Given the description of an element on the screen output the (x, y) to click on. 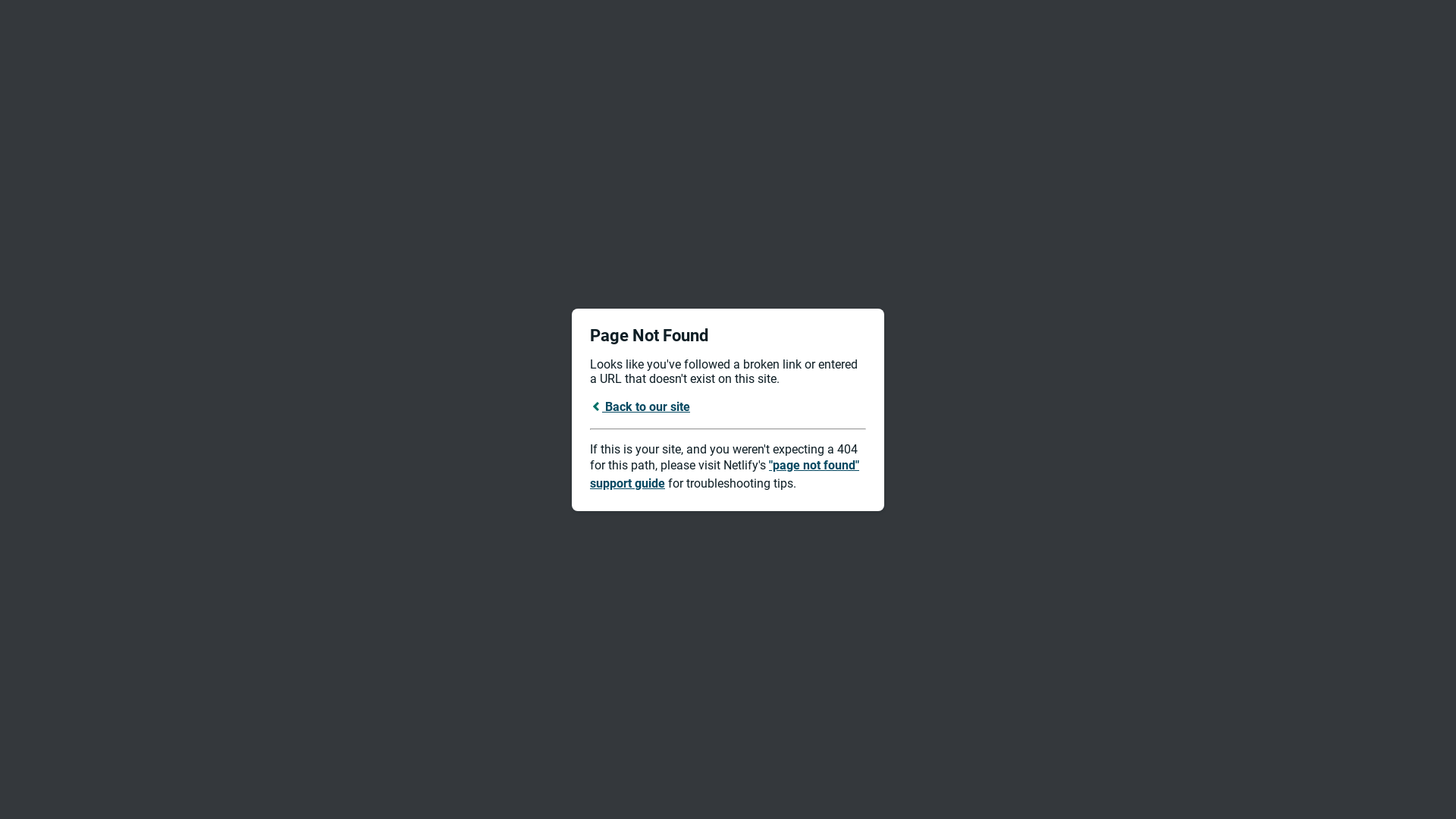
"page not found" support guide Element type: text (724, 474)
Back to our site Element type: text (639, 405)
